Given the description of an element on the screen output the (x, y) to click on. 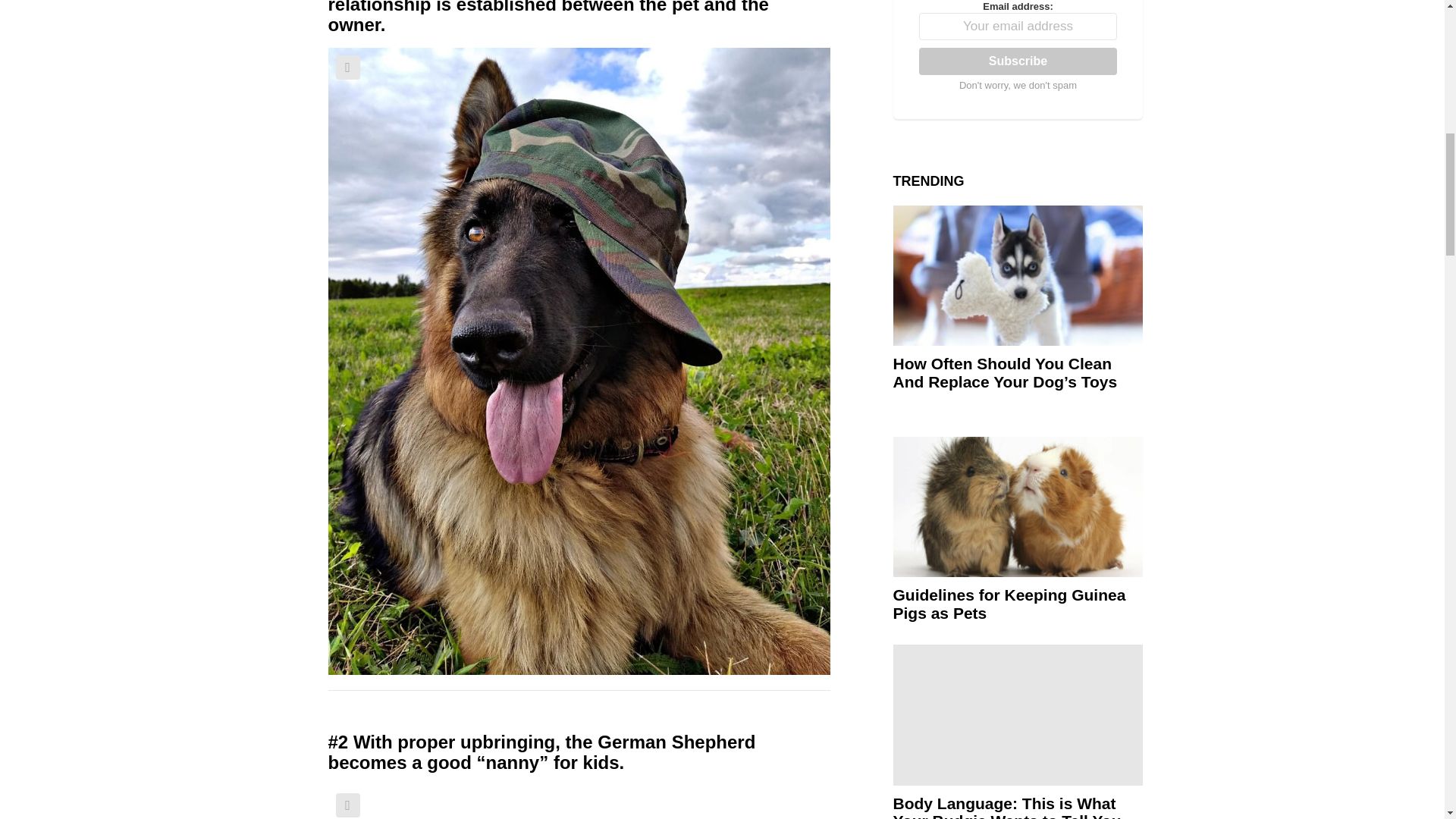
Subscribe (1018, 61)
Share (346, 805)
Share (346, 67)
